Given the description of an element on the screen output the (x, y) to click on. 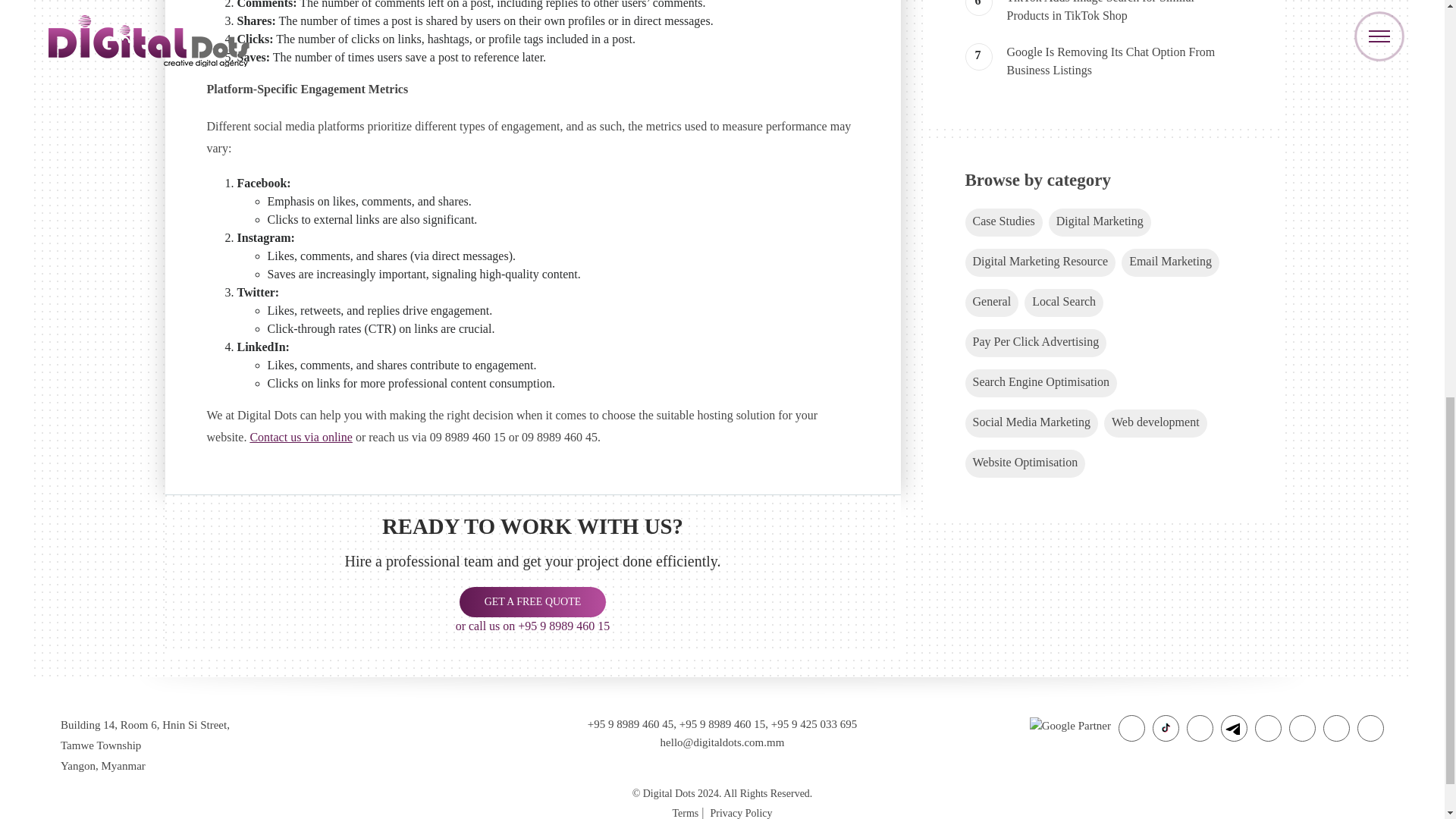
Google Partner (1069, 724)
